Given the description of an element on the screen output the (x, y) to click on. 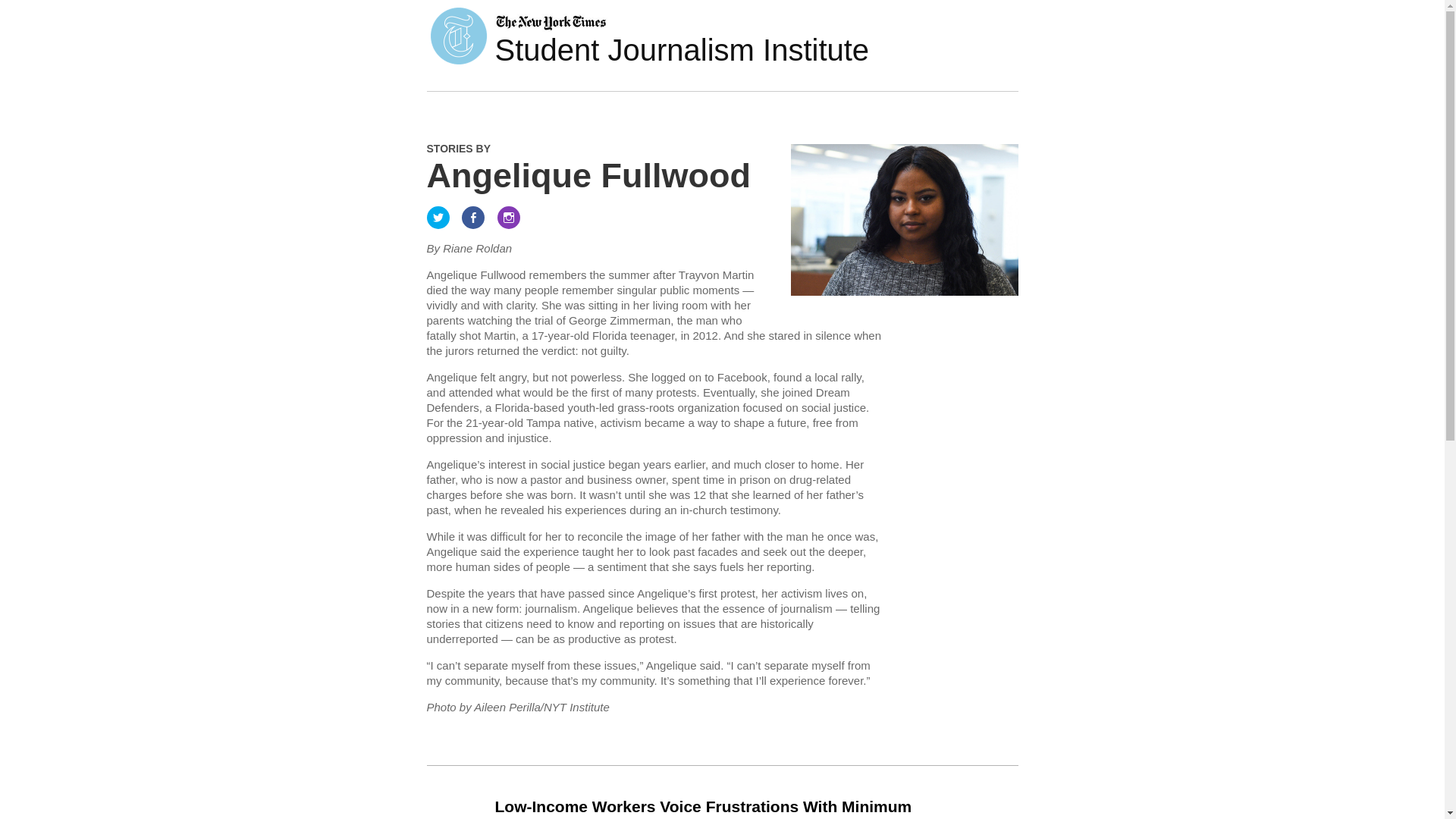
Low-Income Workers Voice Frustrations With Minimum Wage Laws (703, 808)
Angelique Fullwood (587, 175)
